Given the description of an element on the screen output the (x, y) to click on. 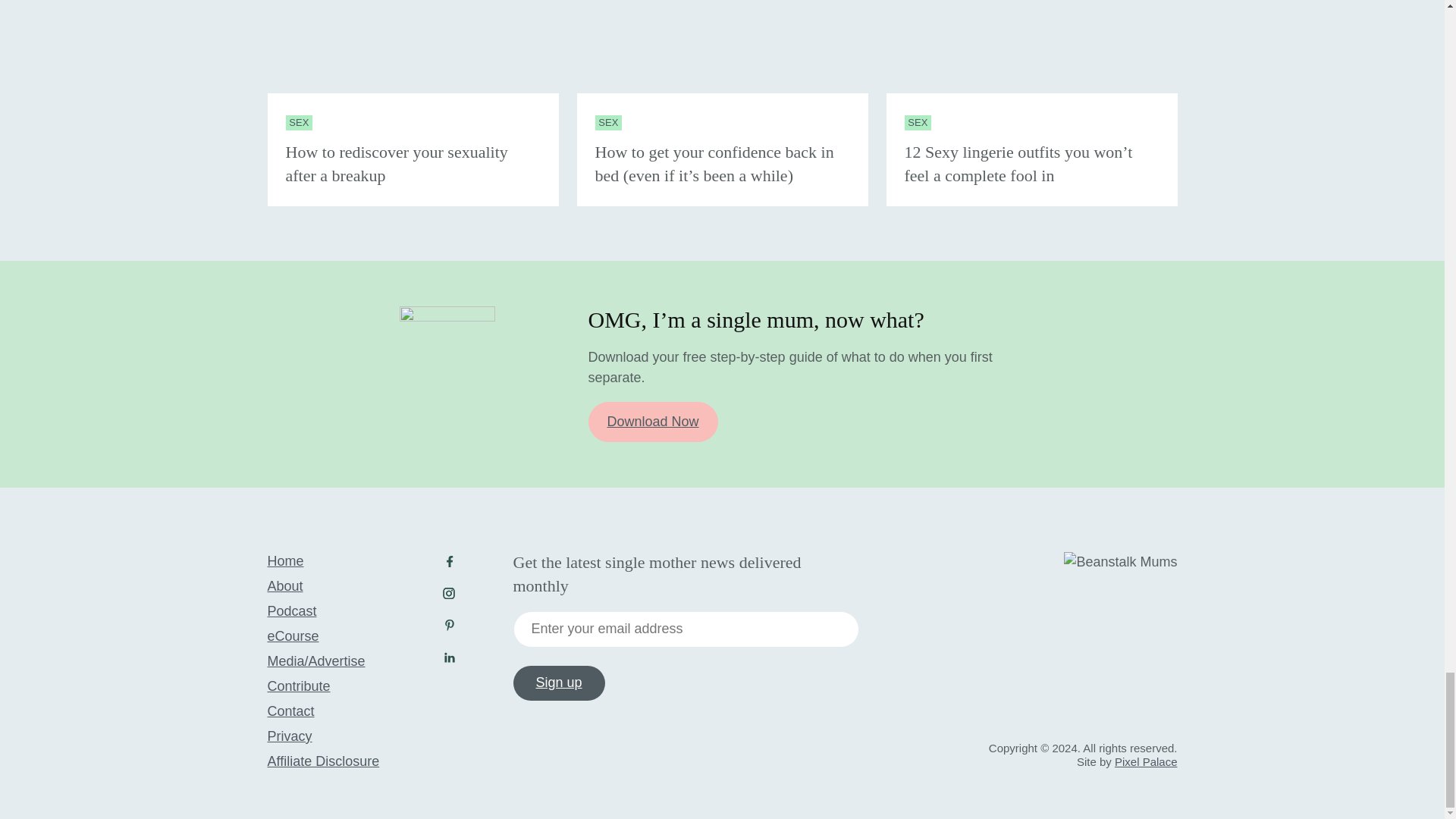
Sign up (558, 683)
